Given the description of an element on the screen output the (x, y) to click on. 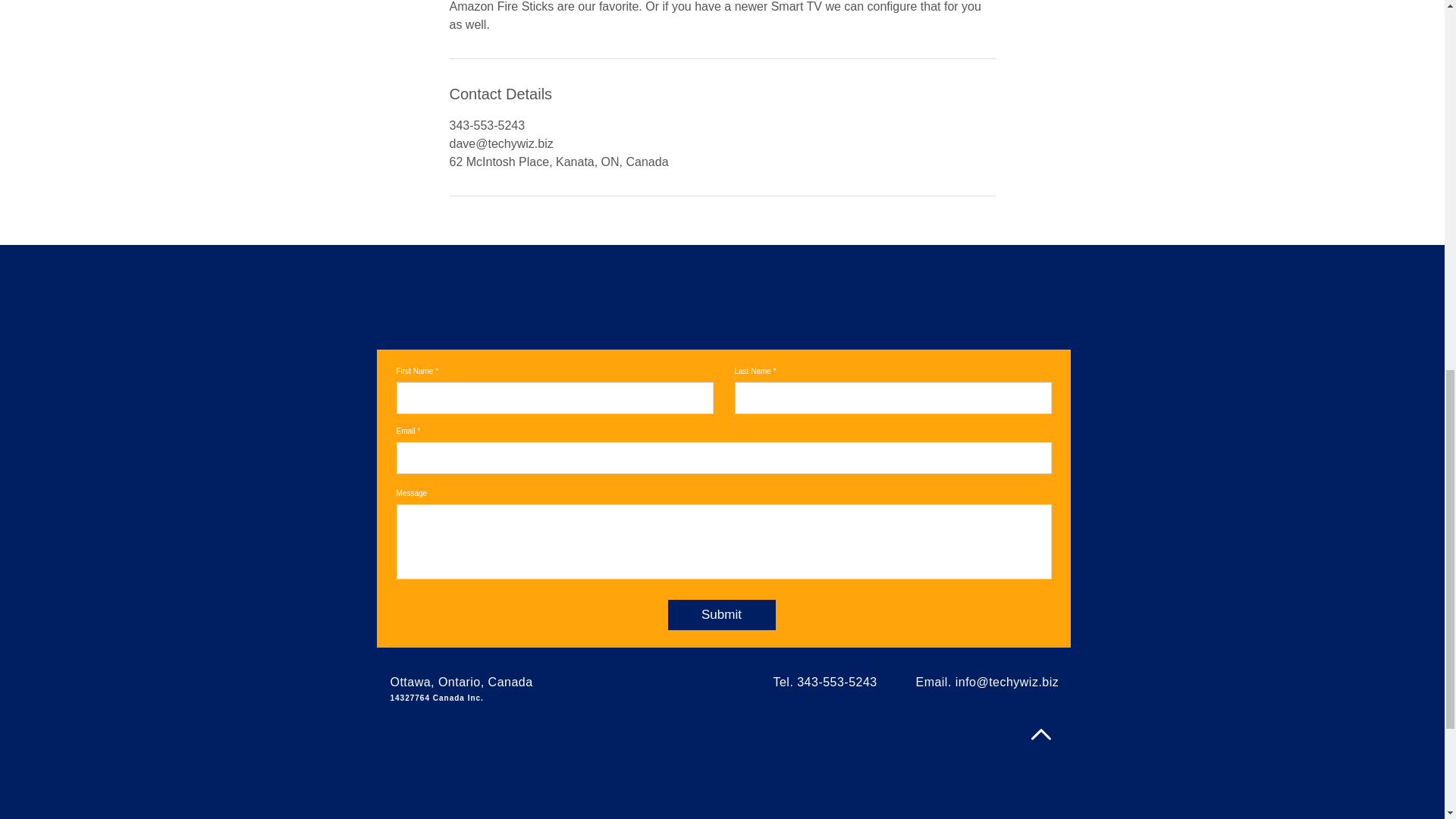
Submit (720, 614)
